Given the description of an element on the screen output the (x, y) to click on. 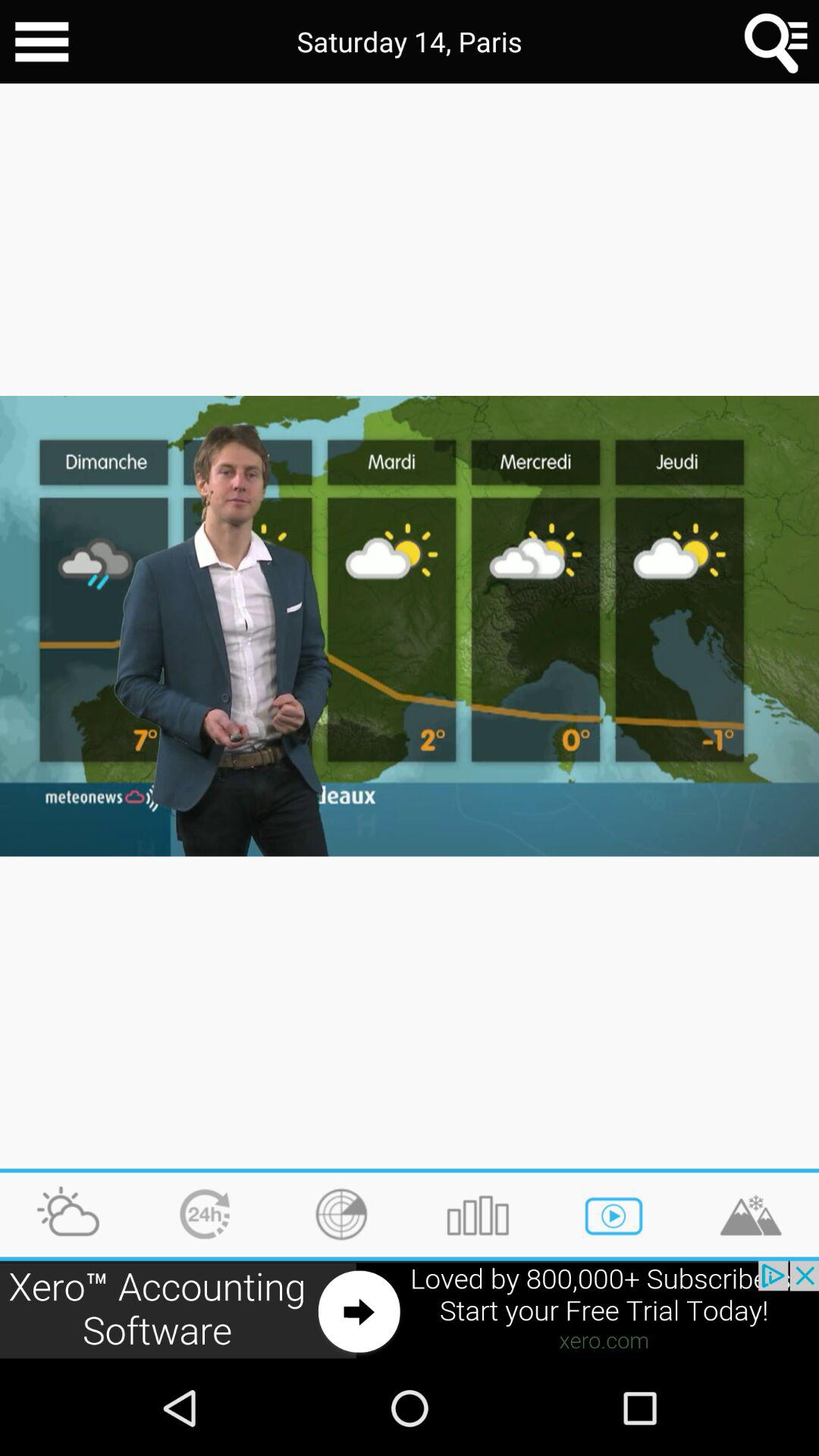
advertisement in the bottom (409, 1310)
